Given the description of an element on the screen output the (x, y) to click on. 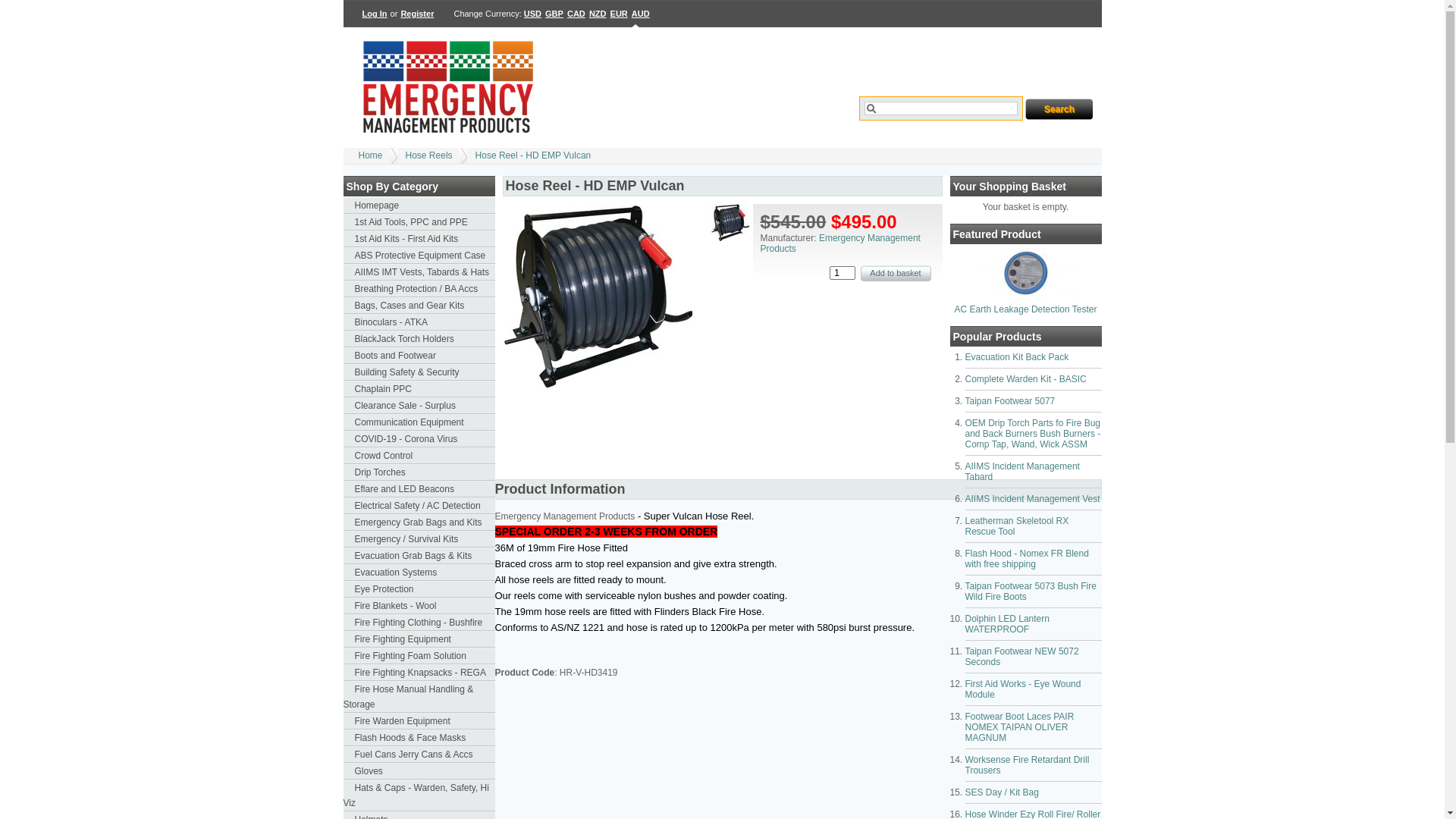
Leatherman Skeletool RX Rescue Tool Element type: text (1016, 525)
NZD Element type: text (597, 13)
Clearance Sale - Surplus Element type: text (418, 405)
Complete Warden Kit - BASIC Element type: text (1024, 378)
AUD Element type: text (640, 13)
Worksense Fire Retardant Drill Trousers Element type: text (1026, 764)
AC Earth Leakage Detection Tester Element type: hover (1025, 294)
Eye Protection Element type: text (418, 588)
Search Element type: text (1059, 108)
Chaplain PPC Element type: text (418, 388)
Flash Hood - Nomex FR Blend with free shipping Element type: text (1026, 558)
Home Element type: text (369, 155)
Advanced Search Element type: text (896, 136)
Electrical Safety / AC Detection Element type: text (418, 505)
Building Safety & Security Element type: text (418, 372)
Fire Blankets - Wool Element type: text (418, 605)
Communication Equipment Element type: text (418, 422)
Evacuation Systems Element type: text (418, 572)
Fire Fighting Knapsacks - REGA Element type: text (418, 672)
AC Earth Leakage Detection Tester Element type: text (1025, 309)
Boots and Footwear Element type: text (418, 355)
Register Element type: text (416, 13)
Hose Reel - HD EMP Vulcan  Element type: hover (596, 384)
Fire Fighting Foam Solution Element type: text (418, 655)
Taipan Footwear 5073 Bush Fire Wild Fire Boots Element type: text (1029, 591)
Evacuation Kit Back Pack Element type: text (1016, 356)
Search our store Element type: hover (940, 108)
GBP Element type: text (554, 13)
Hose Reels Element type: text (428, 155)
SES Day / Kit Bag Element type: text (1001, 792)
AIIMS IMT Vests, Tabards & Hats Element type: text (418, 271)
Emergency Management Products Element type: text (839, 243)
Fire Warden Equipment Element type: text (418, 720)
Binoculars - ATKA Element type: text (418, 321)
Fire Hose Manual Handling & Storage Element type: text (418, 696)
Evacuation Grab Bags & Kits Element type: text (418, 555)
Dolphin LED Lantern WATERPROOF Element type: text (1006, 623)
Homepage Element type: text (418, 205)
Fire Fighting Equipment Element type: text (418, 638)
1st Aid Kits - First Aid Kits Element type: text (418, 238)
Drip Torches Element type: text (418, 472)
AIIMS Incident Management Tabard Element type: text (1021, 471)
ABS Protective Equipment Case Element type: text (418, 255)
Hose Reel - HD EMP Vulcan Element type: text (533, 155)
BlackJack Torch Holders Element type: text (418, 338)
Gloves Element type: text (418, 770)
First Aid Works - Eye Wound Module Element type: text (1022, 688)
Breathing Protection / BA Accs Element type: text (418, 288)
Crowd Control Element type: text (418, 455)
EUR Element type: text (618, 13)
COVID-19 - Corona Virus Element type: text (418, 438)
Emergency / Survival Kits Element type: text (418, 538)
AIIMS Incident Management Vest Element type: text (1031, 498)
CAD Element type: text (576, 13)
Footwear Boot Laces PAIR NOMEX TAIPAN OLIVER MAGNUM Element type: text (1018, 727)
1st Aid Tools, PPC and PPE Element type: text (418, 221)
Add to basket Element type: text (894, 273)
Log In Element type: text (375, 13)
Eflare and LED Beacons Element type: text (418, 488)
Bags, Cases and Gear Kits Element type: text (418, 305)
Fire Fighting Clothing - Bushfire Element type: text (418, 622)
Hats & Caps - Warden, Safety, Hi Viz Element type: text (418, 795)
Emergency Grab Bags and Kits Element type: text (418, 522)
Taipan Footwear NEW 5072 Seconds Element type: text (1021, 656)
Fuel Cans Jerry Cans & Accs Element type: text (418, 754)
Flash Hoods & Face Masks Element type: text (418, 737)
USD Element type: text (533, 13)
Taipan Footwear 5077 Element type: text (1009, 400)
